Given the description of an element on the screen output the (x, y) to click on. 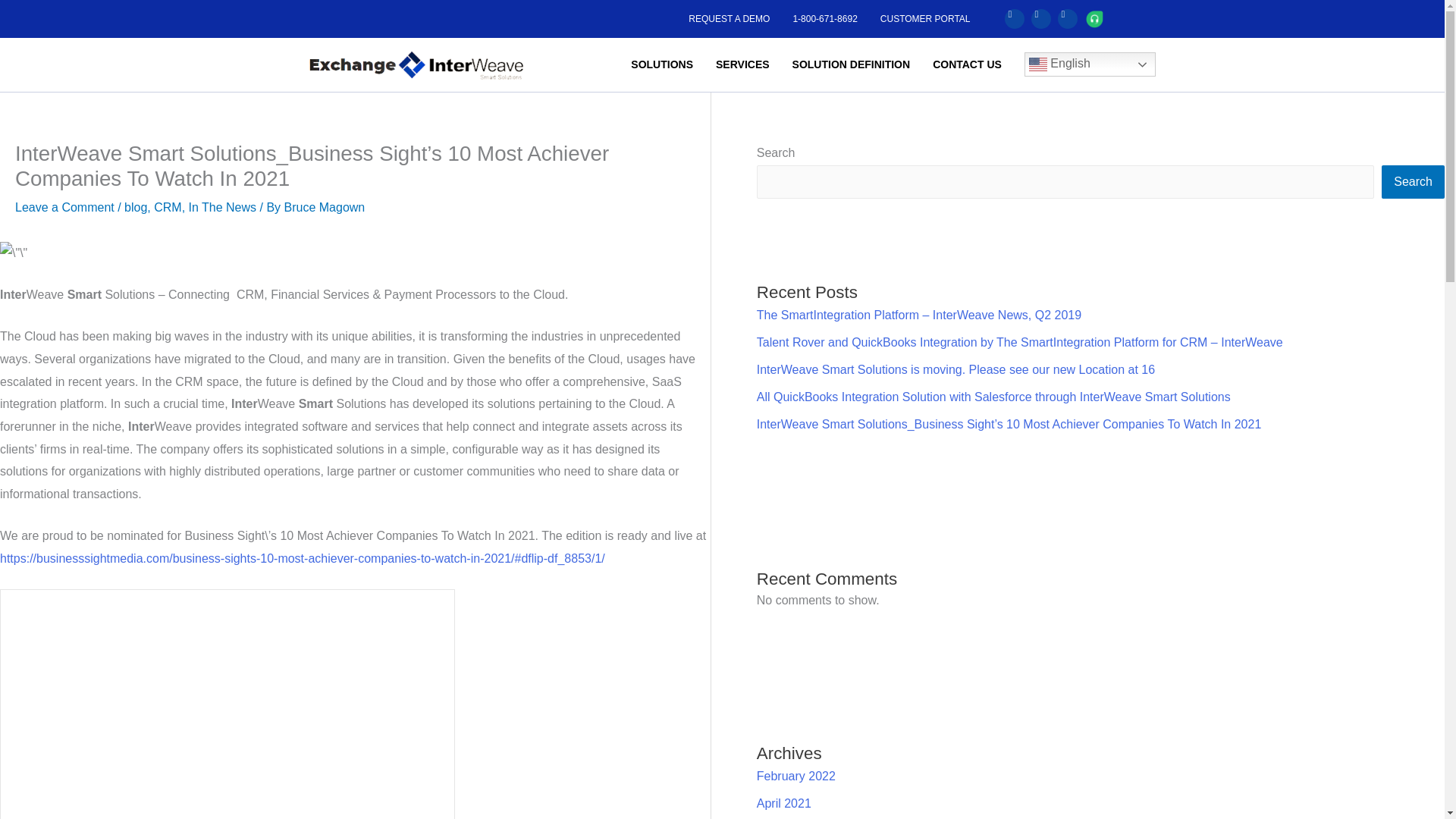
SERVICES (742, 64)
Facebook (1067, 18)
CONTACT US (967, 64)
Twitter (1014, 18)
Leave a Comment (64, 206)
CRM (167, 206)
REQUEST A DEMO (727, 18)
Bruce Magown (324, 206)
English (1090, 64)
SOLUTIONS (662, 64)
